Given the description of an element on the screen output the (x, y) to click on. 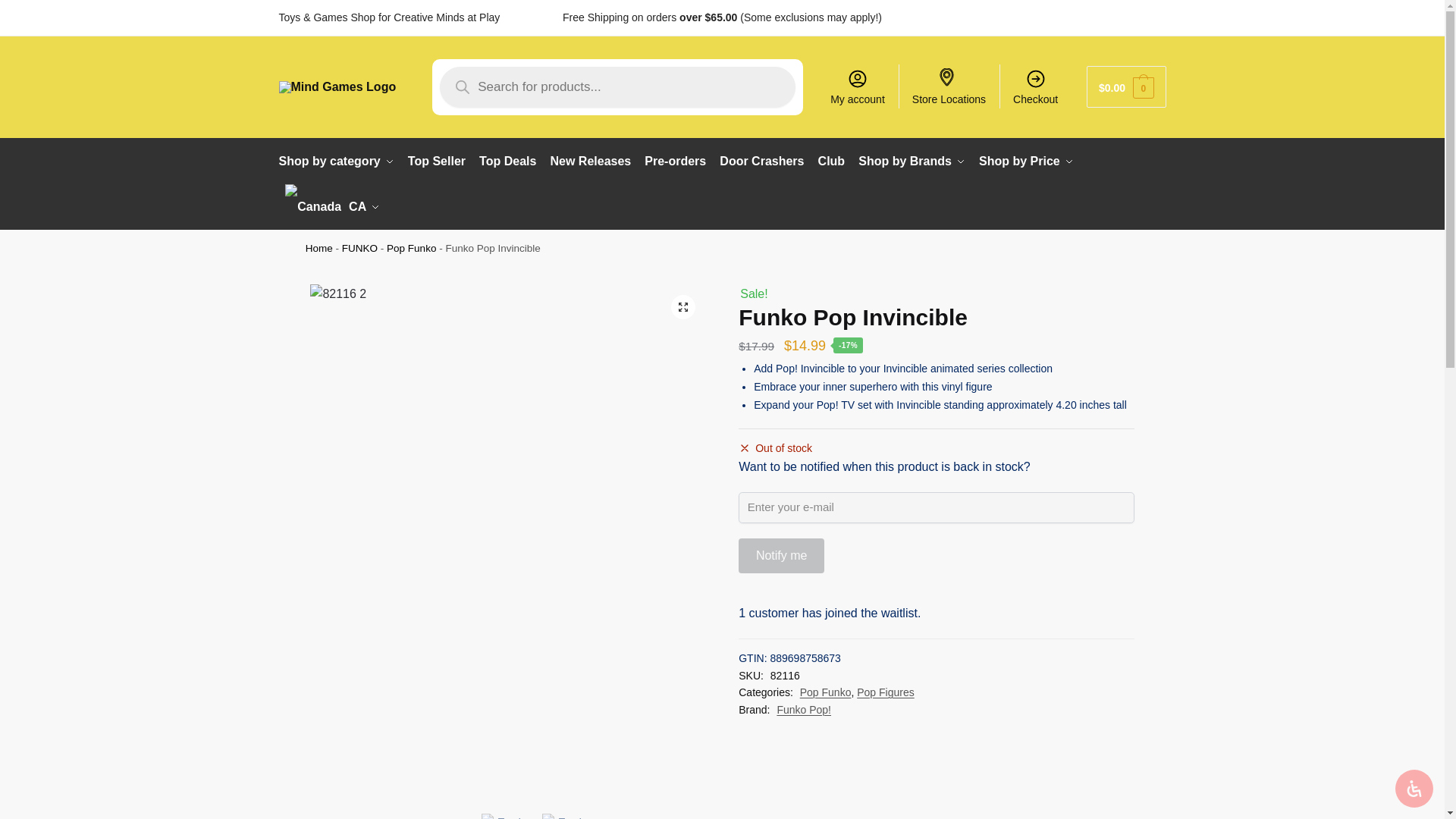
Customer Help (1045, 16)
Track your Order (1126, 16)
View your shopping cart (1126, 86)
Shop by category (340, 161)
My account (857, 86)
Accessibility (1413, 788)
Store Locations (948, 86)
Checkout (1035, 86)
